Given the description of an element on the screen output the (x, y) to click on. 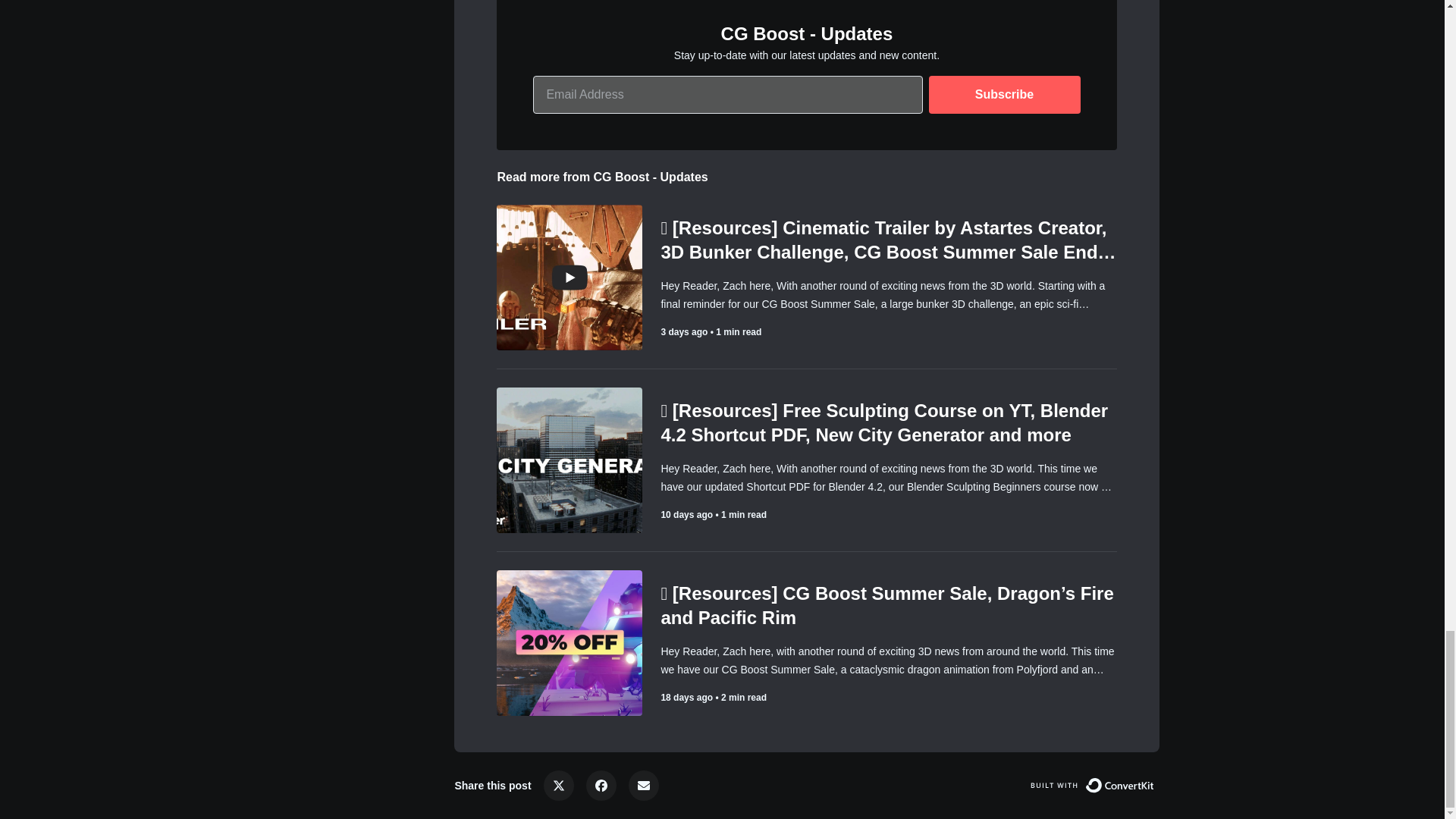
Subscribe (1004, 94)
